Given the description of an element on the screen output the (x, y) to click on. 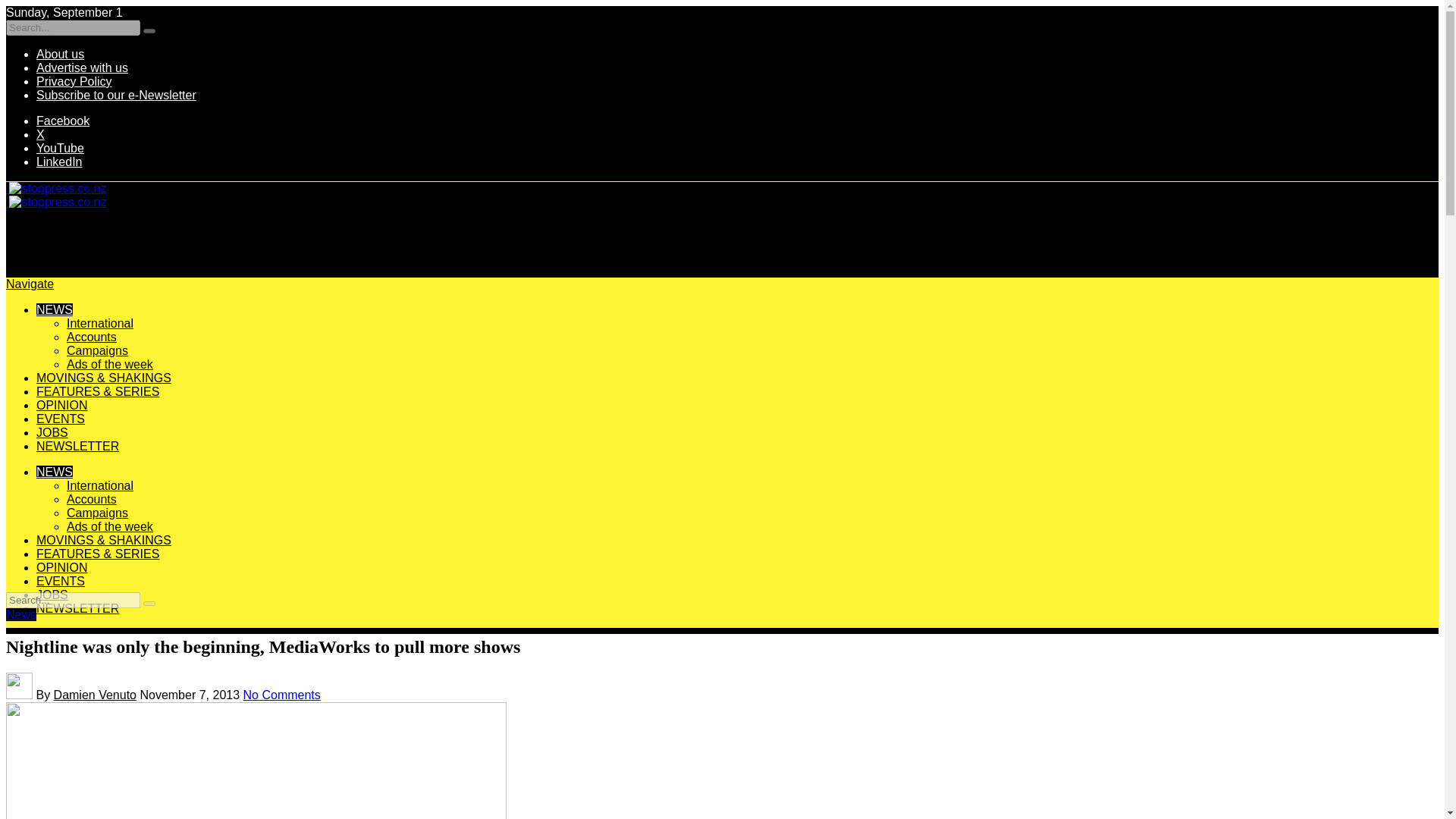
JOBS (52, 431)
Posts by Damien Venuto (94, 694)
NEWS (54, 472)
Subscribe to our e-Newsletter (116, 94)
stoppress.co.nz (55, 201)
Campaigns (97, 350)
International (99, 323)
JOBS (52, 594)
Navigate (29, 283)
